Given the description of an element on the screen output the (x, y) to click on. 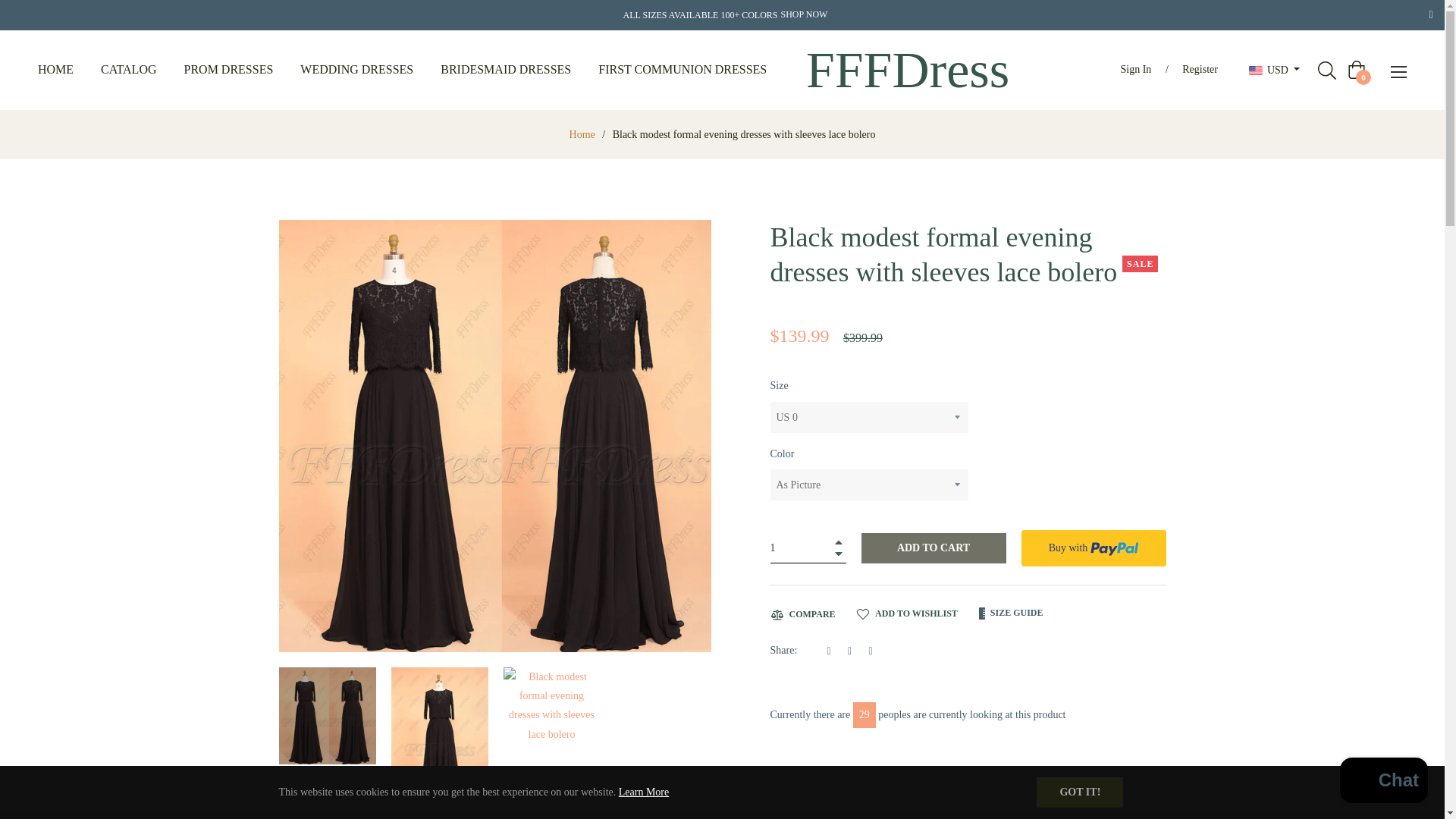
Home (581, 134)
FFFDress (907, 70)
1 (807, 548)
Currencies (1274, 69)
Shopping Cart (1356, 69)
SHOP NOW (804, 15)
WEDDING DRESSES (356, 69)
Home (581, 134)
BRIDESMAID DRESSES (505, 69)
Register (1199, 69)
